Given the description of an element on the screen output the (x, y) to click on. 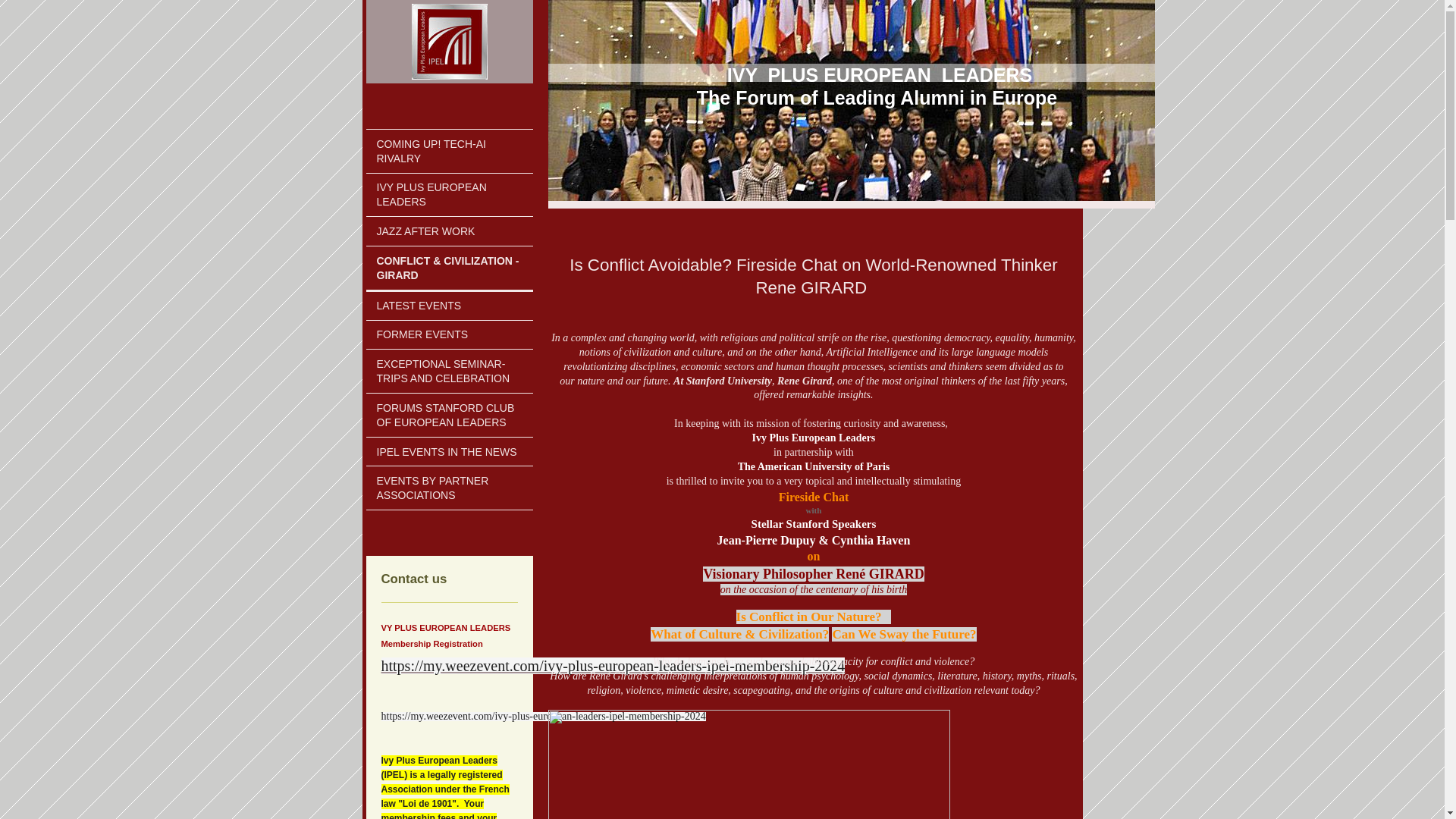
JAZZ AFTER WORK (448, 231)
IVY PLUS EUROPEAN LEADERS (448, 195)
COMING UP! TECH-AI RIVALRY (448, 150)
